Given the description of an element on the screen output the (x, y) to click on. 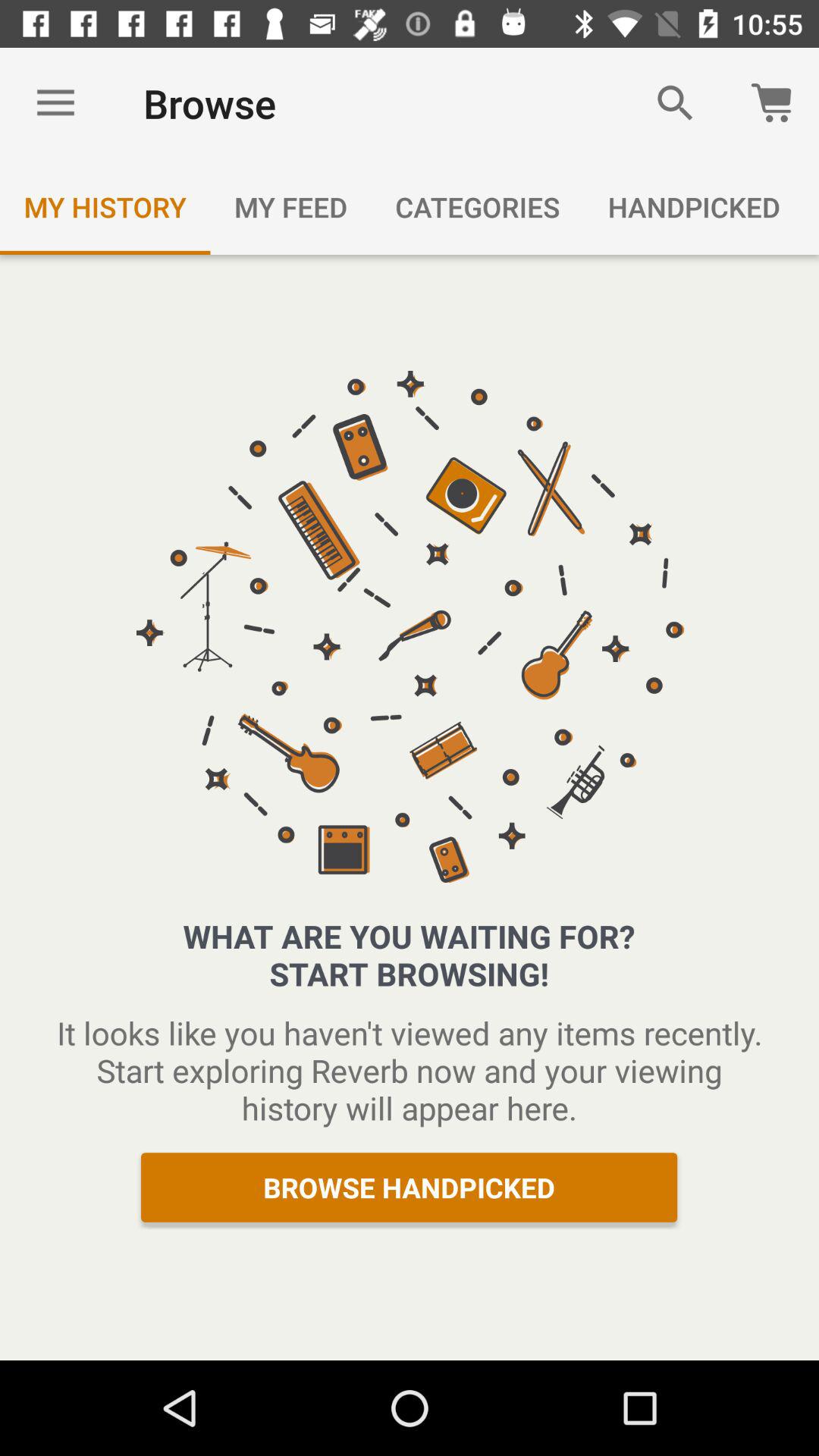
open the icon next to browse icon (55, 103)
